Given the description of an element on the screen output the (x, y) to click on. 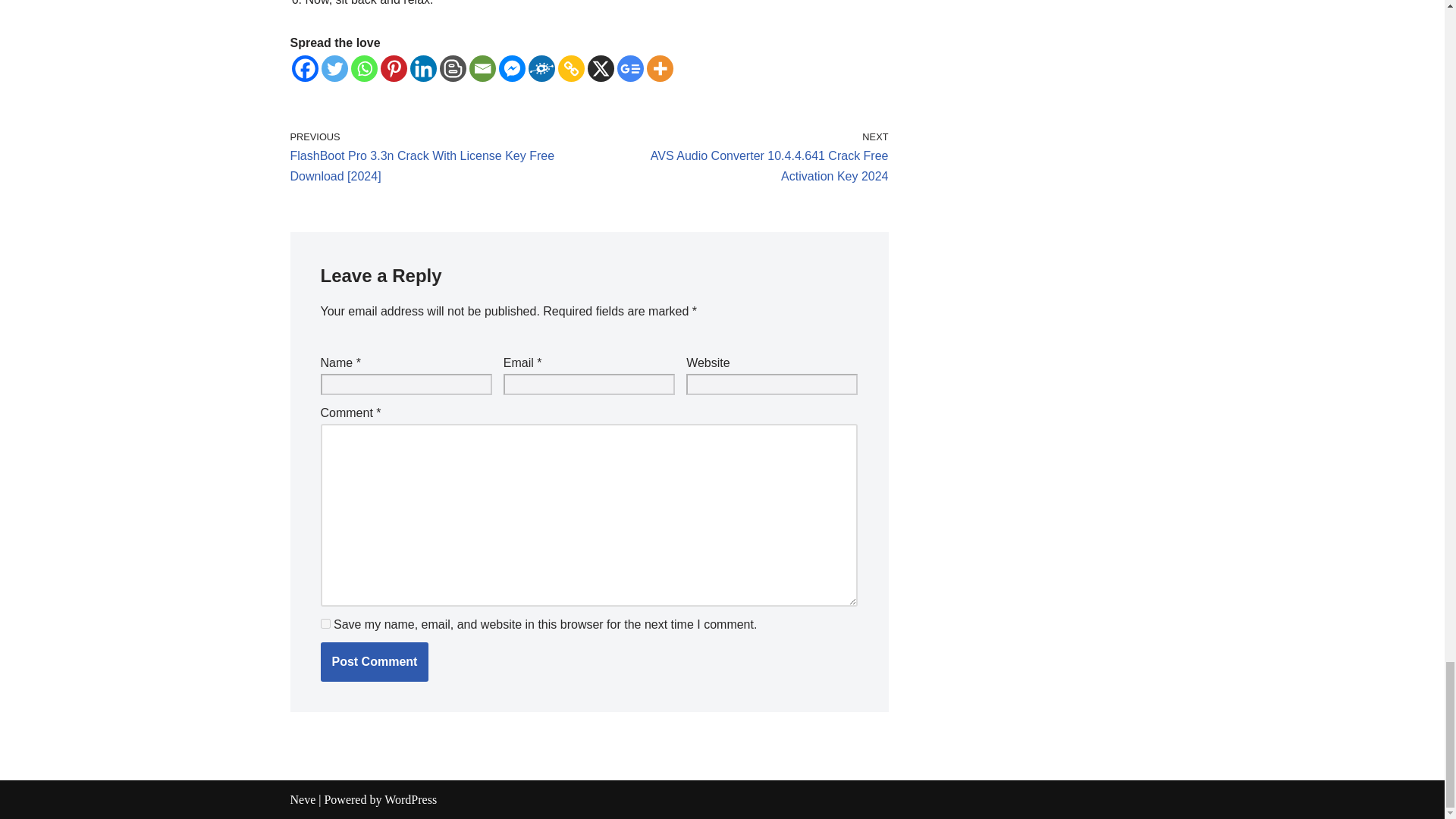
X (599, 68)
Whatsapp (363, 68)
Email (481, 68)
yes (325, 623)
Folkd (540, 68)
Linkedin (422, 68)
Facebook (304, 68)
Pinterest (393, 68)
Twitter (334, 68)
Post Comment (374, 661)
Copy Link (571, 68)
Blogger Post (452, 68)
